Given the description of an element on the screen output the (x, y) to click on. 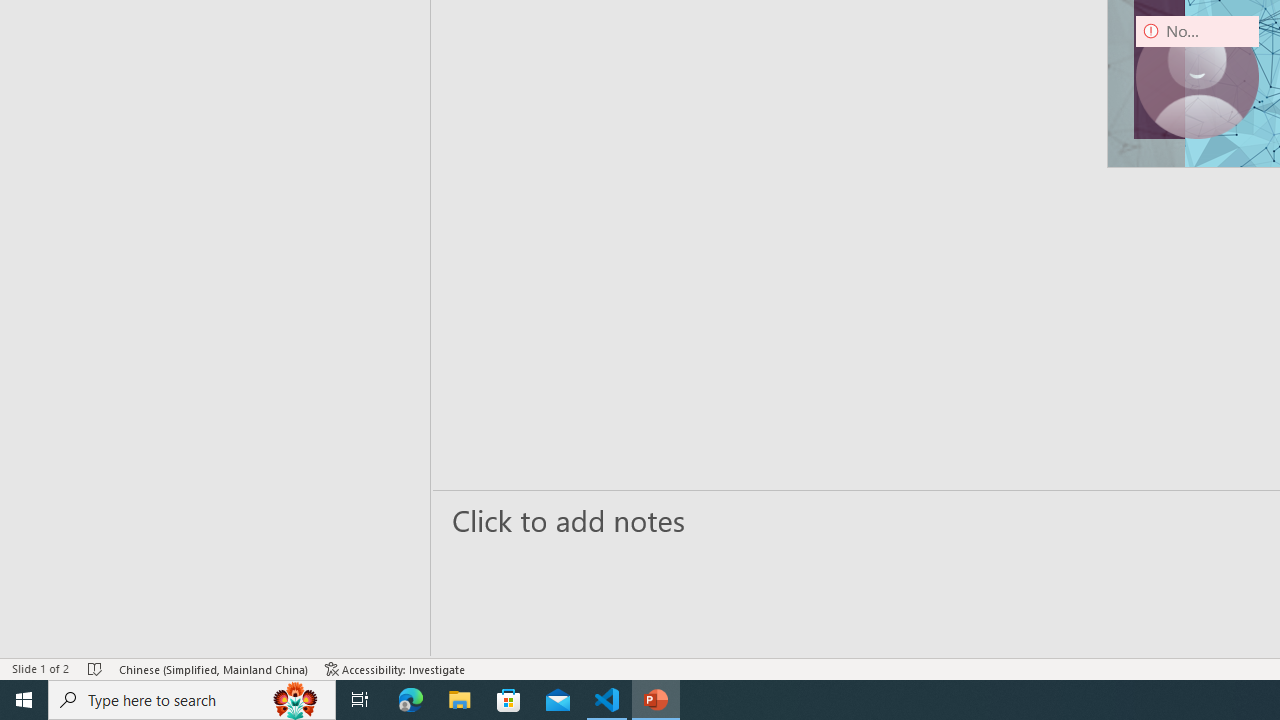
Camera 9, No camera detected. (1197, 77)
Accessibility Checker Accessibility: Investigate (395, 668)
